Given the description of an element on the screen output the (x, y) to click on. 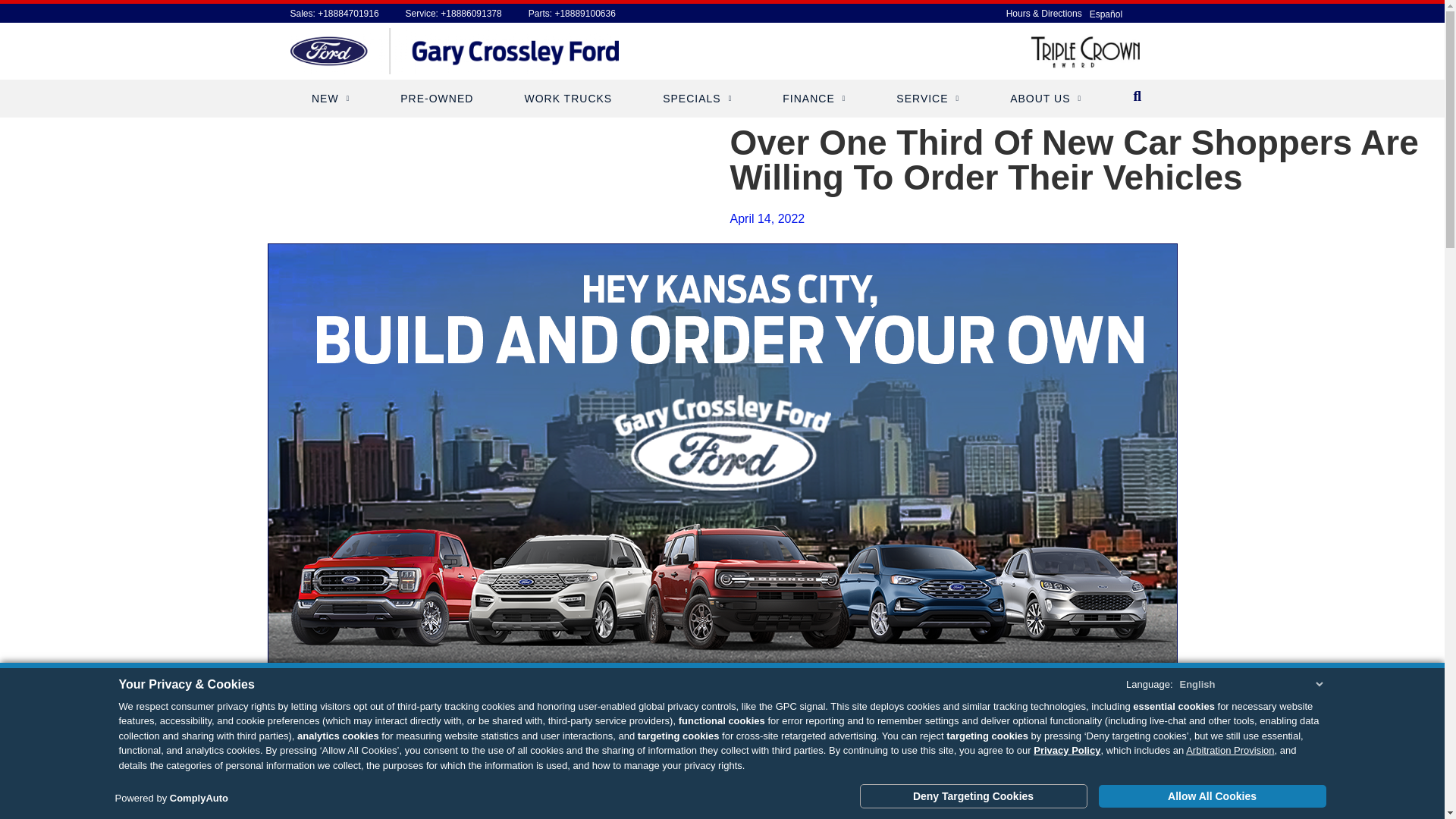
Accessibility Menu (26, 792)
NEW (330, 98)
